Given the description of an element on the screen output the (x, y) to click on. 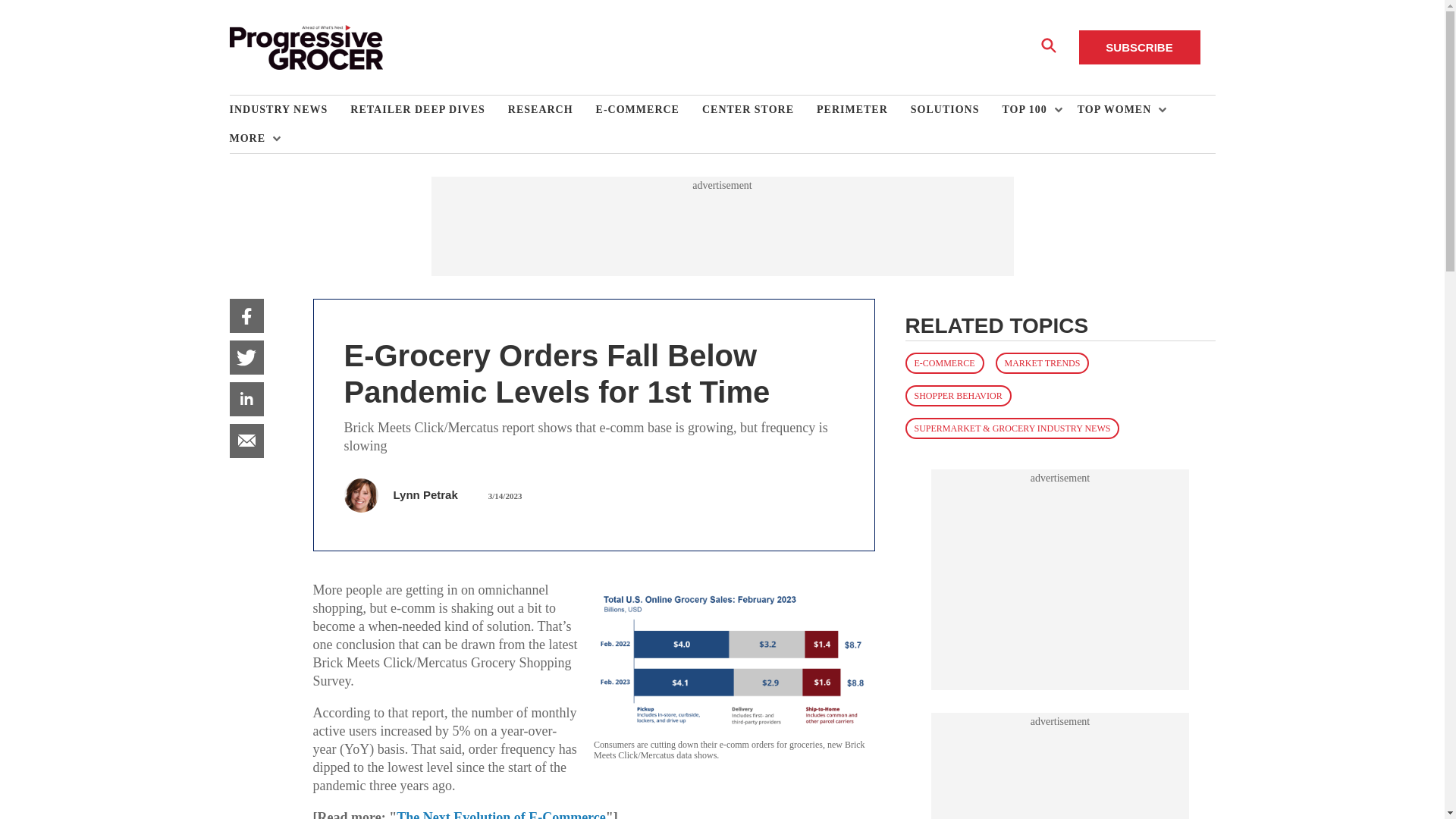
PERIMETER (863, 109)
E-COMMERCE (648, 109)
facebook (245, 315)
INDUSTRY NEWS (289, 109)
RESEARCH (551, 109)
3rd party ad content (1059, 579)
MORE (250, 138)
TOP 100 (1028, 109)
email (245, 440)
3rd party ad content (1059, 773)
